Given the description of an element on the screen output the (x, y) to click on. 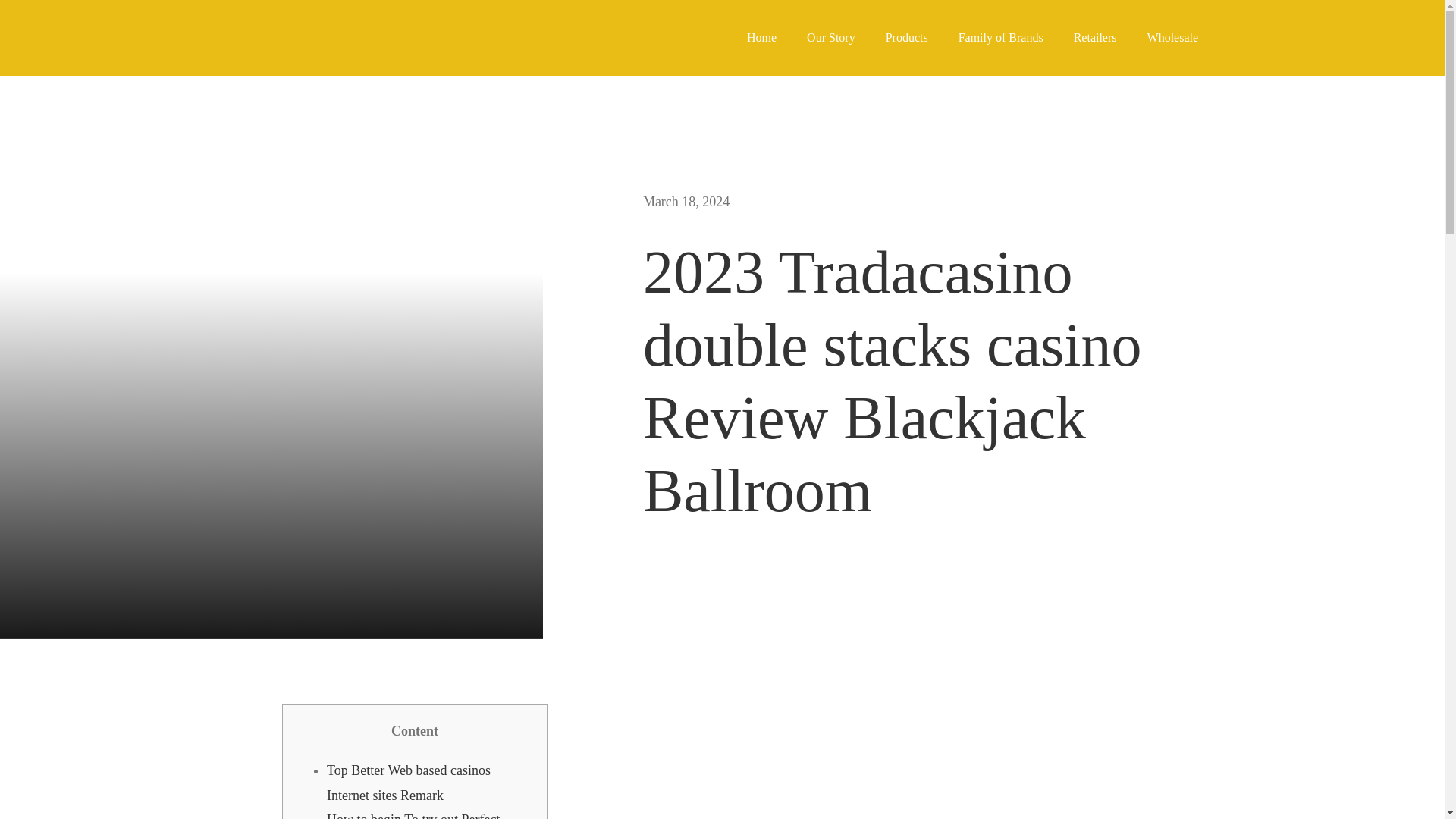
Logo-con-Rama-texto (117, 37)
Top Better Web based casinos Internet sites Remark (408, 782)
Our Story (831, 38)
Wholesale (1172, 38)
Family of Brands (1000, 38)
Home (761, 38)
Retailers (1095, 38)
How to begin To try out Perfect Black-jack On line (412, 815)
Products (906, 38)
